Given the description of an element on the screen output the (x, y) to click on. 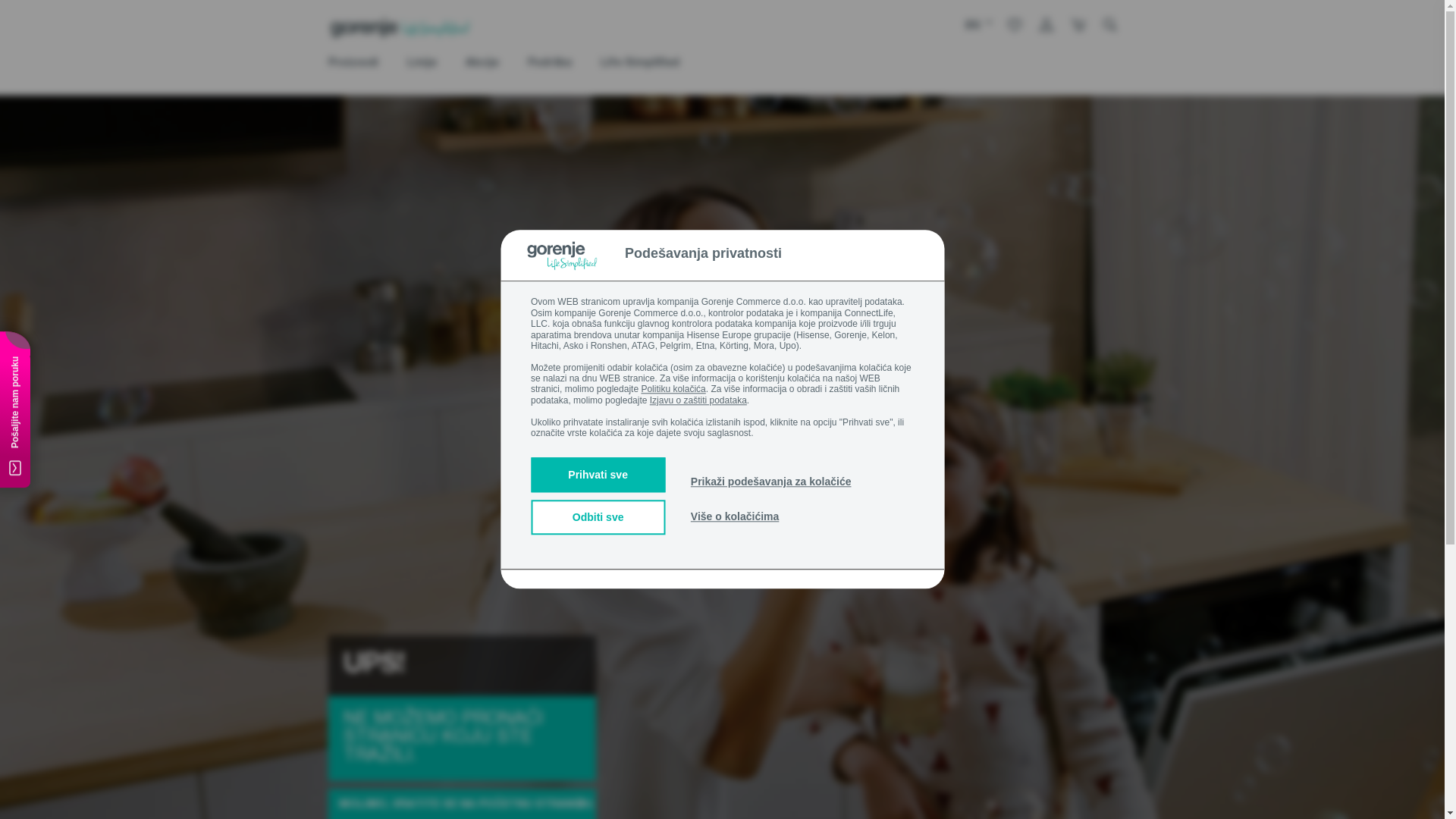
Prihvati sve Element type: text (597, 475)
Proizvodi Element type: text (352, 63)
Life Simplified Element type: text (639, 63)
Linije Element type: text (421, 63)
Odbiti sve Element type: text (597, 517)
Akcije Element type: text (481, 63)
Ok Element type: text (956, 128)
gorenje-logo-narrow-2022-webp.webp Element type: hover (399, 27)
